Given the description of an element on the screen output the (x, y) to click on. 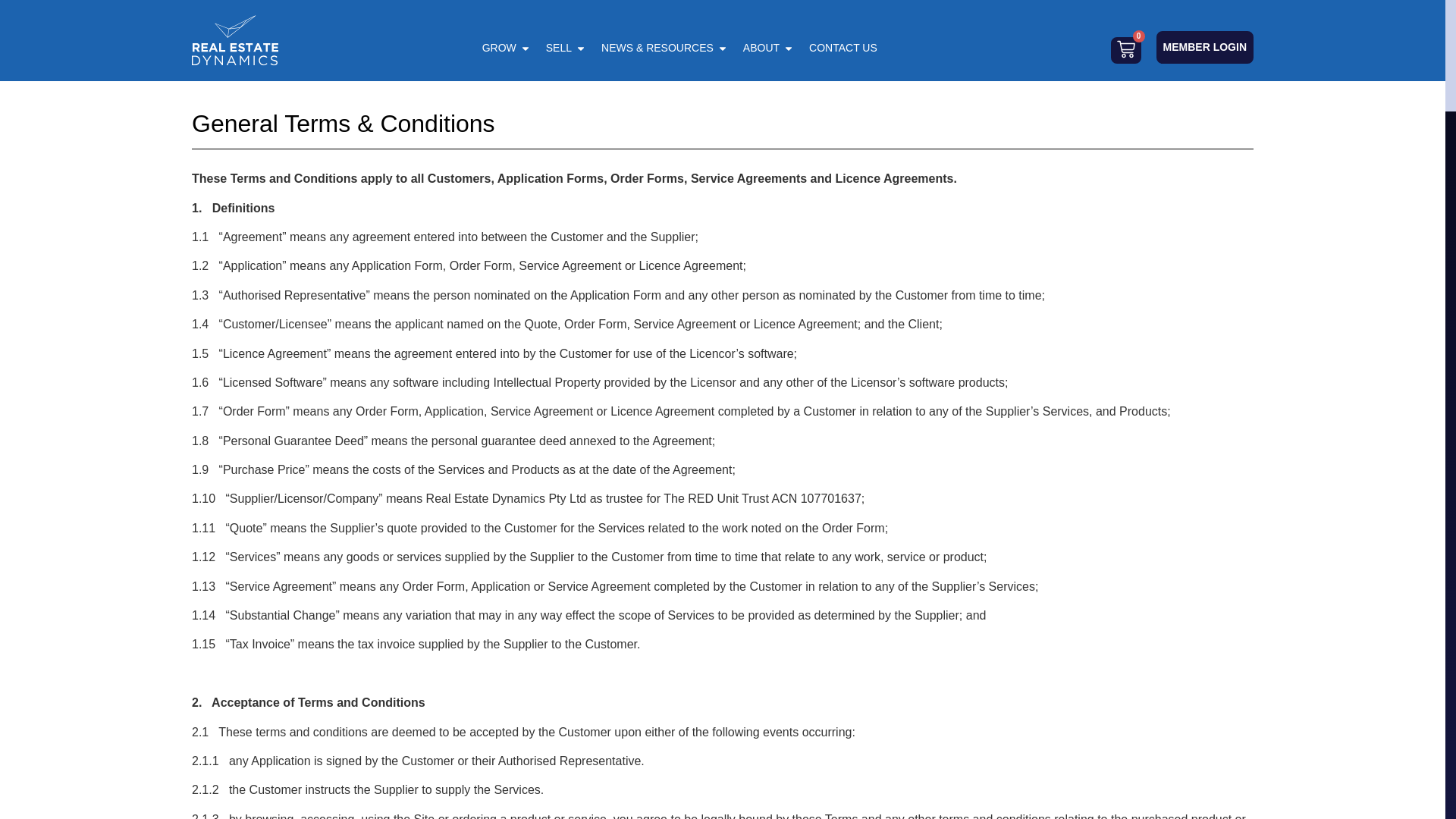
CONTACT US (843, 47)
MEMBER LOGIN (1204, 47)
0 (1125, 49)
